Given the description of an element on the screen output the (x, y) to click on. 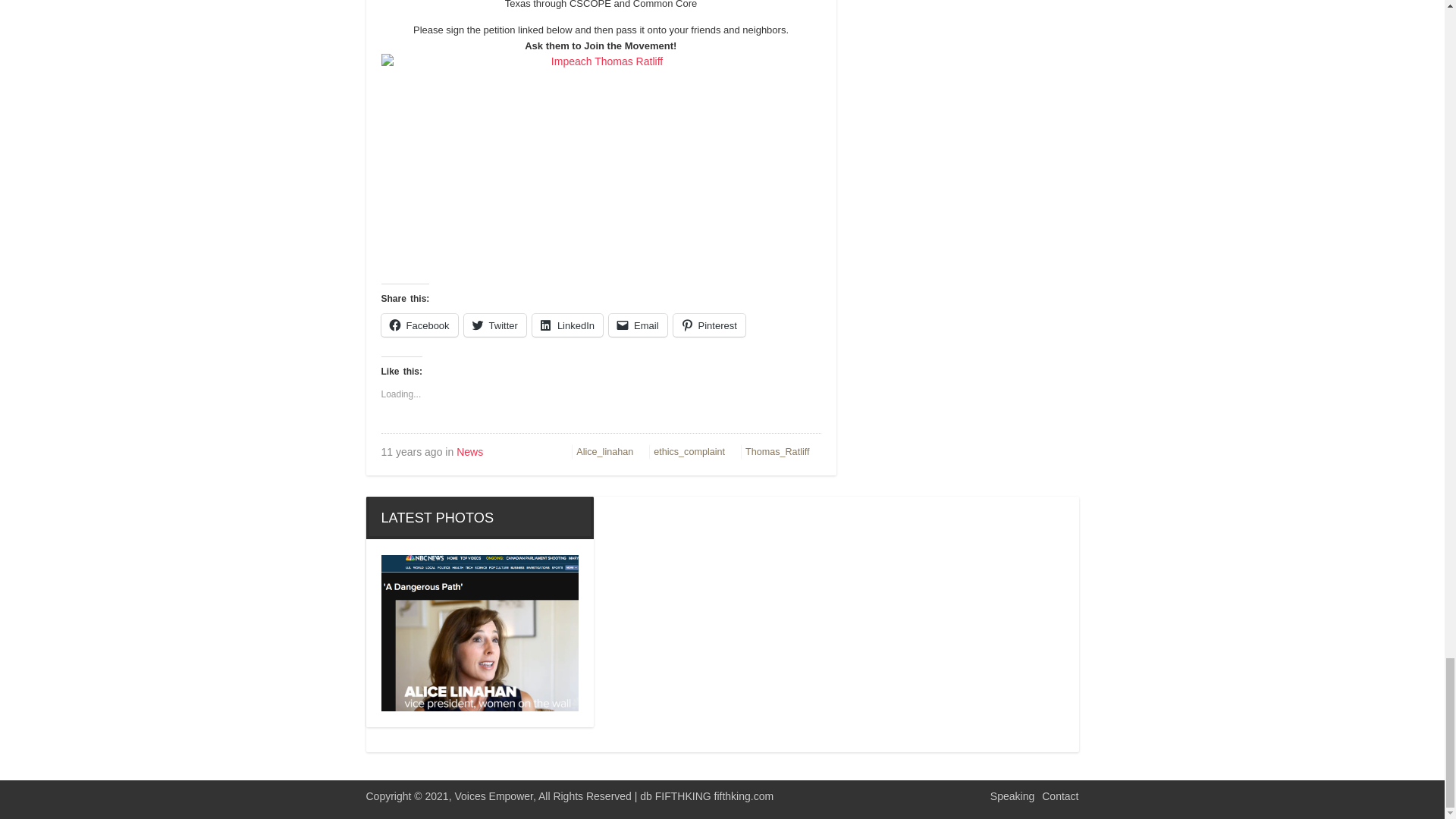
Click to share on Twitter (494, 323)
Facebook (418, 323)
Twitter (494, 323)
Click to share on Facebook (418, 323)
LinkedIn (567, 323)
